Given the description of an element on the screen output the (x, y) to click on. 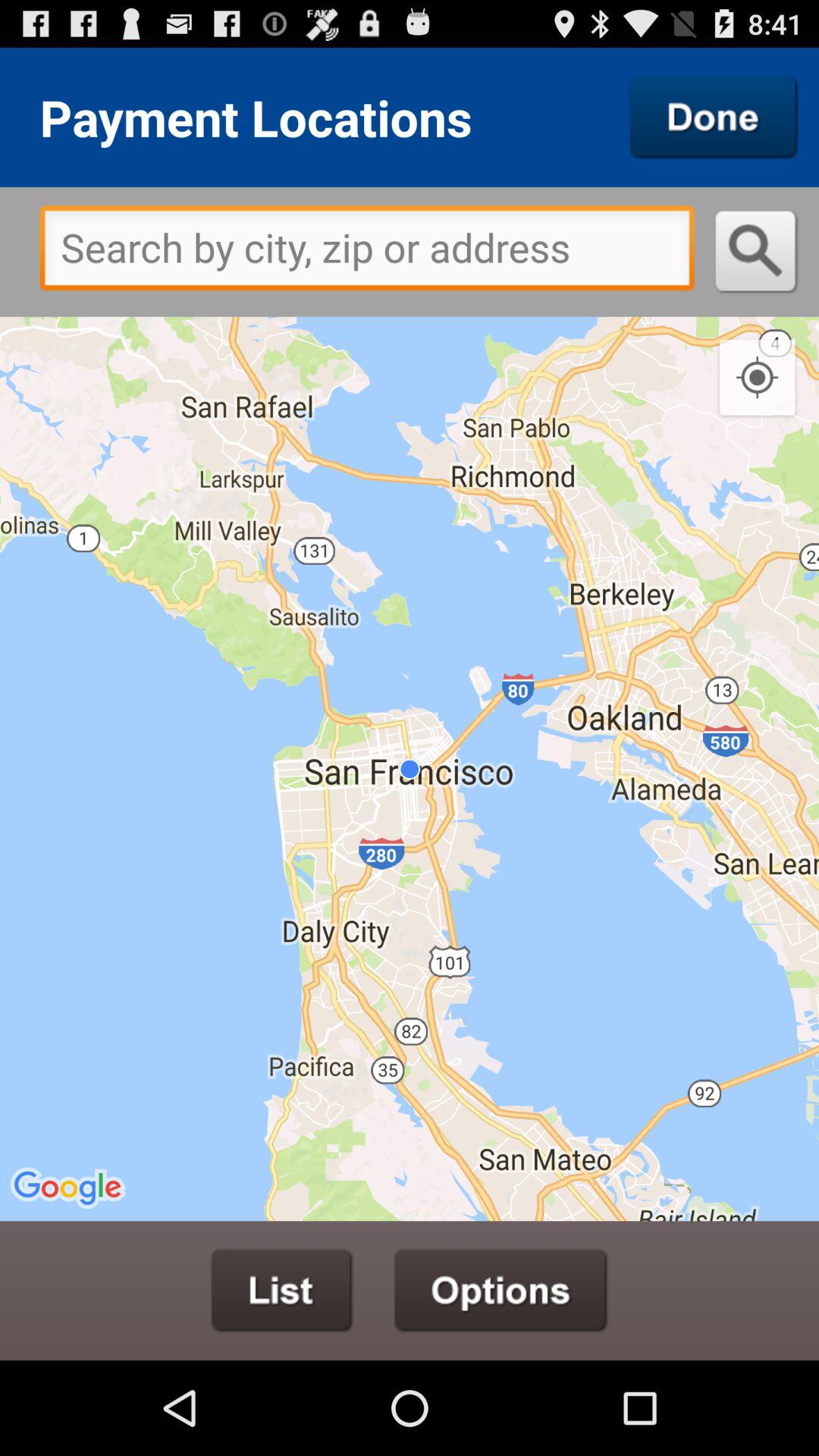
list the locations (281, 1290)
